Given the description of an element on the screen output the (x, y) to click on. 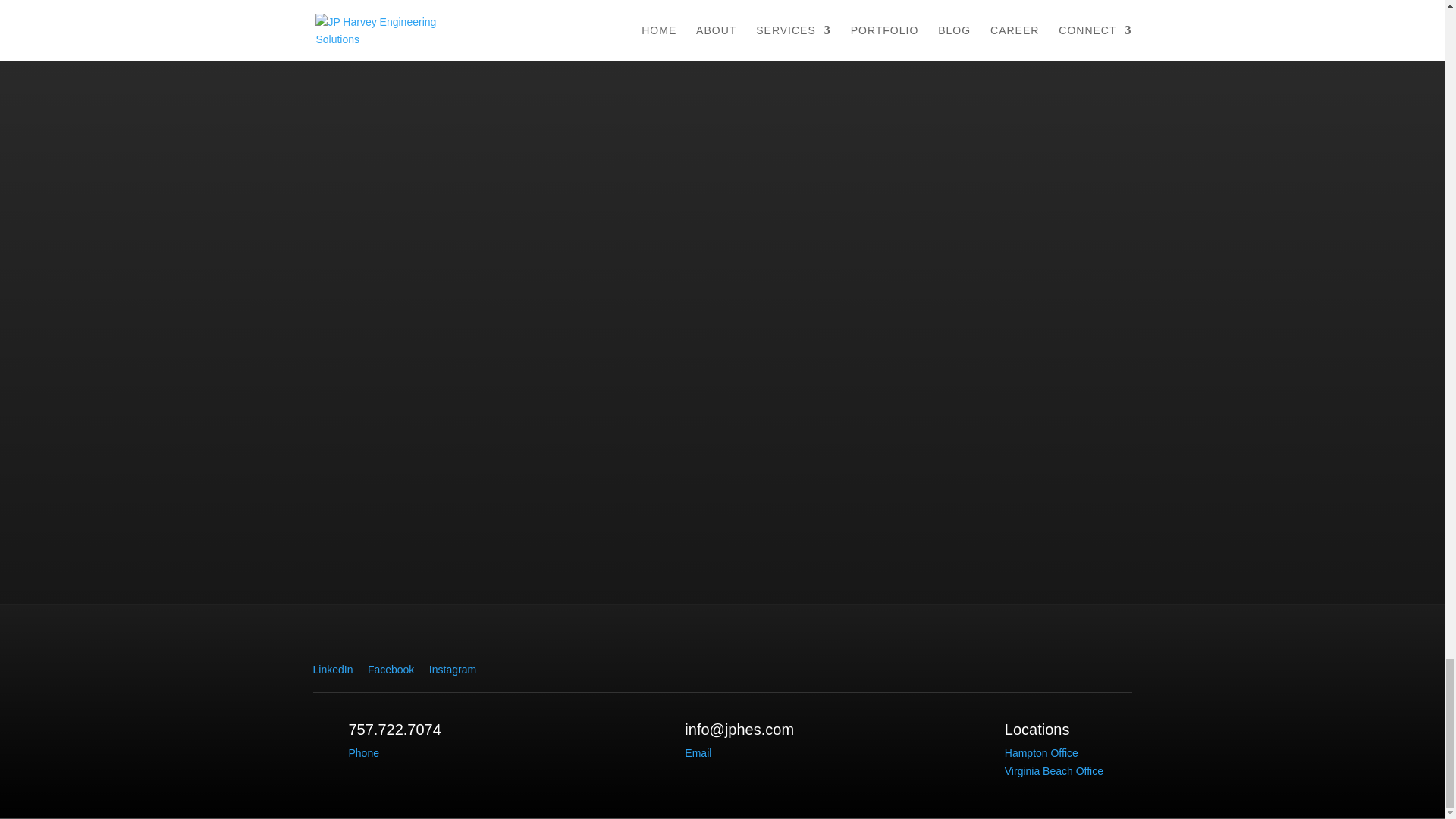
JPHarvey LOGO No Eng Text 2022 white (1046, 653)
